Given the description of an element on the screen output the (x, y) to click on. 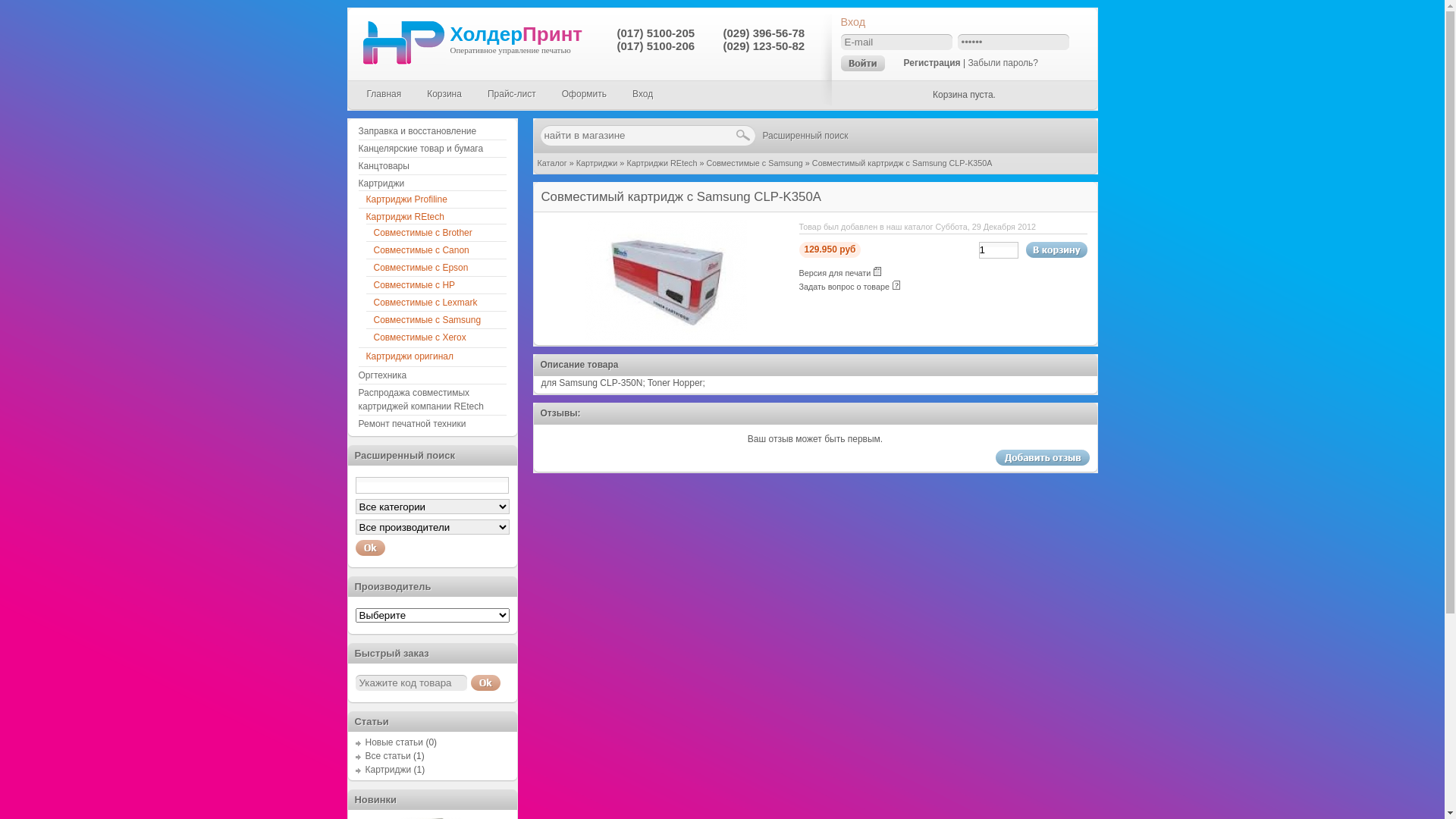
E-mail Element type: text (895, 42)
****** Element type: text (1012, 42)
